Given the description of an element on the screen output the (x, y) to click on. 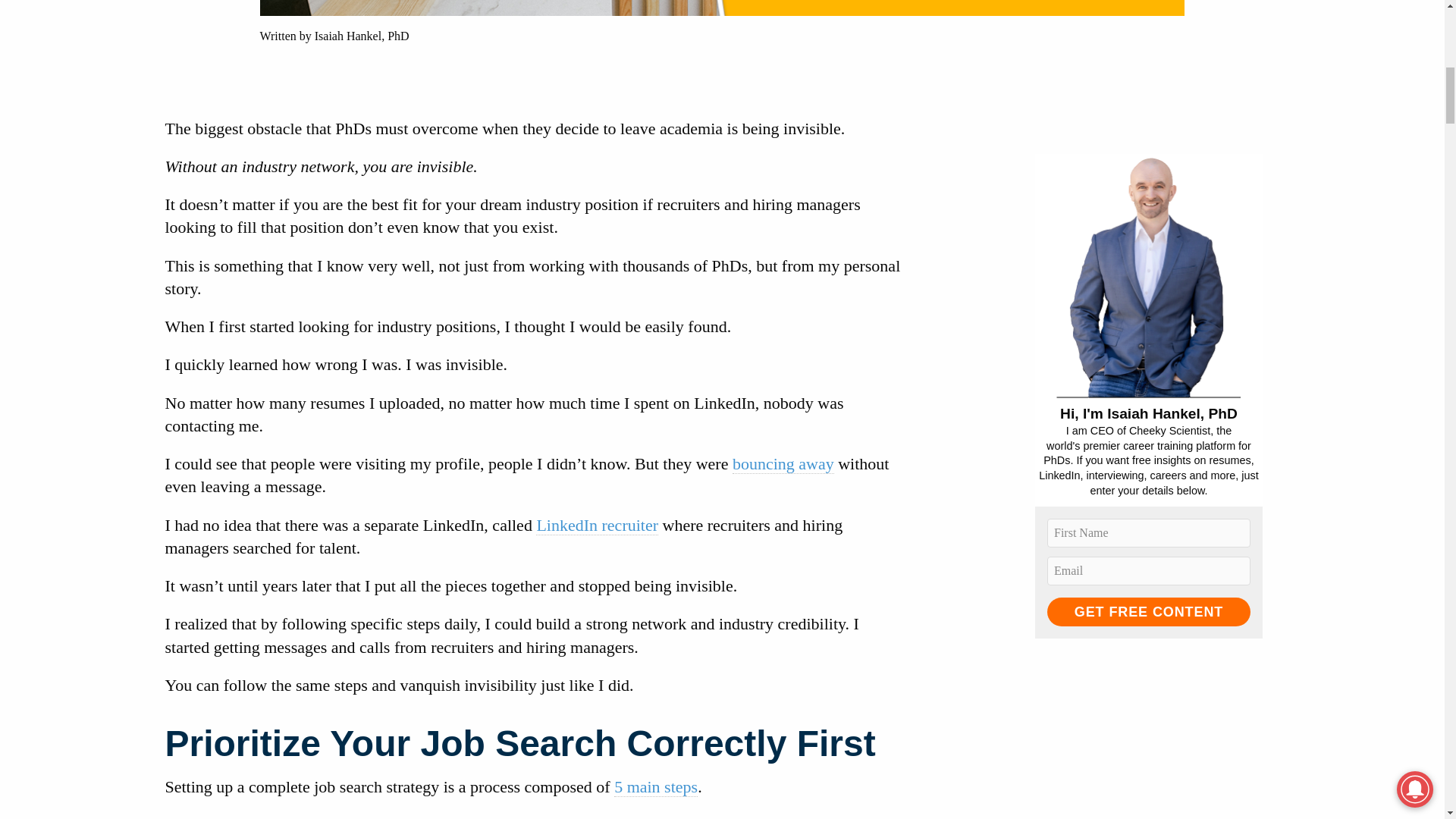
LinkedIn recruiter (596, 525)
5 main steps (655, 786)
bouncing away (783, 464)
